Given the description of an element on the screen output the (x, y) to click on. 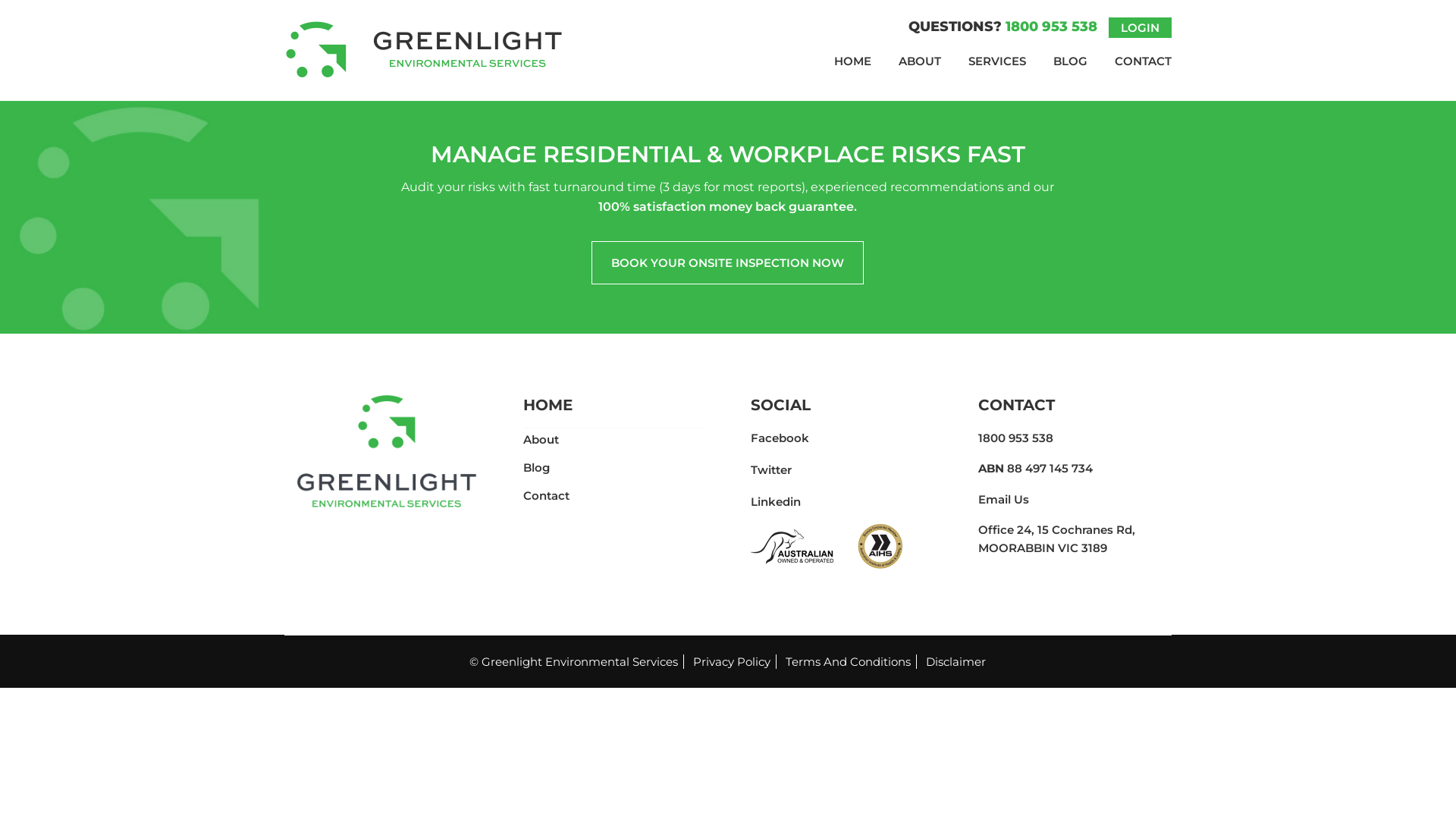
Terms And Conditions Element type: text (848, 661)
Twitter Element type: text (770, 469)
About Element type: text (540, 439)
Blog Element type: text (536, 467)
Disclaimer Element type: text (955, 661)
Privacy Policy Element type: text (731, 661)
LOGIN Element type: text (1139, 27)
QUESTIONS? 1800 953 538 Element type: text (1004, 26)
Email Us Element type: text (1003, 499)
SERVICES Element type: text (996, 60)
HOME Element type: text (852, 60)
Facebook Element type: text (779, 437)
BOOK YOUR ONSITE INSPECTION NOW Element type: text (727, 262)
1800 953 538 Element type: text (1015, 437)
Linkedin Element type: text (775, 501)
ABOUT Element type: text (919, 60)
Contact Element type: text (546, 495)
CONTACT Element type: text (1136, 60)
BLOG Element type: text (1070, 60)
